Given the description of an element on the screen output the (x, y) to click on. 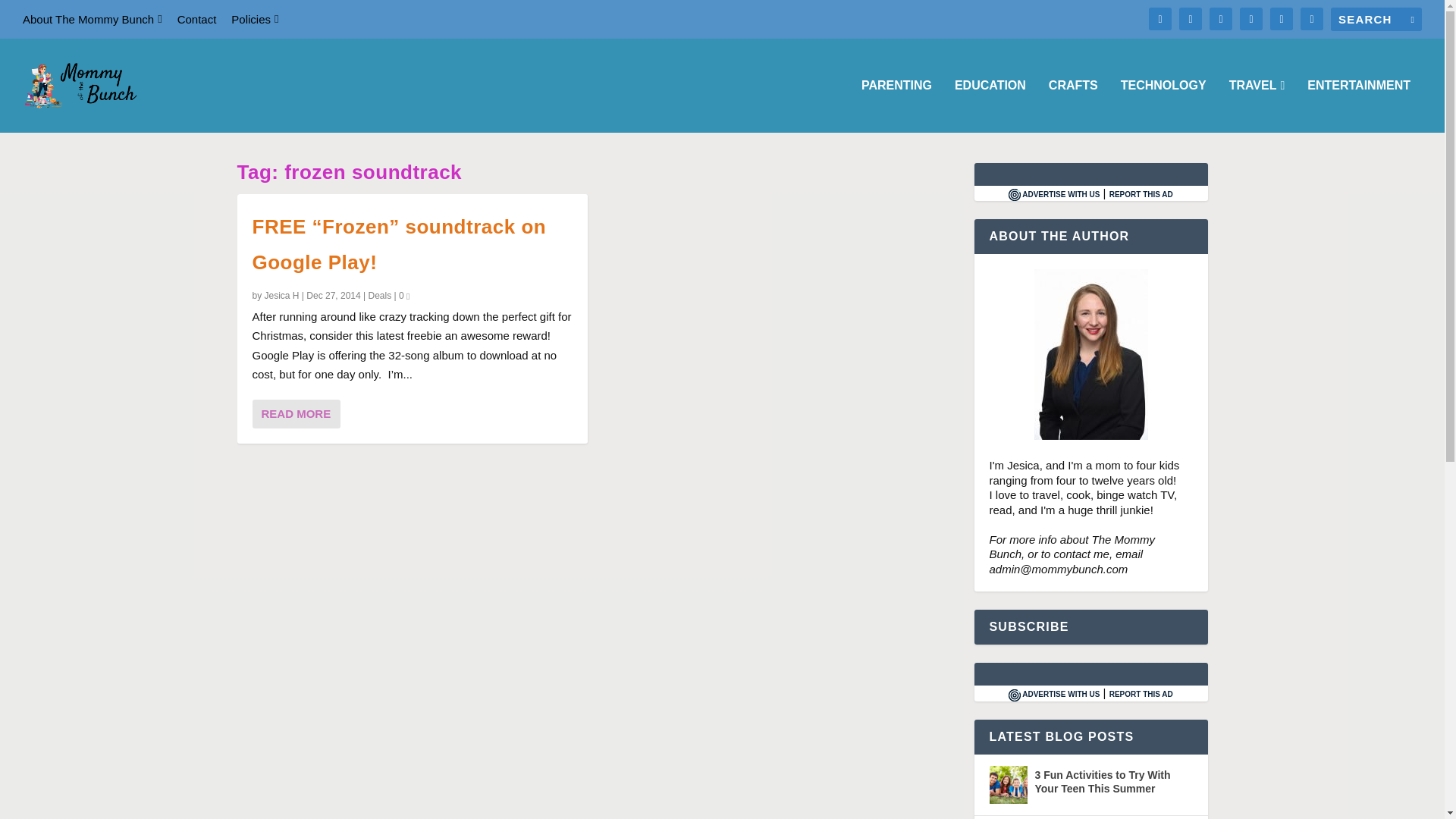
Policies (254, 19)
Posts by Jesica H (281, 295)
Deals (379, 294)
PARENTING (896, 105)
About The Mommy Bunch (92, 19)
TECHNOLOGY (1164, 105)
ADVERTISE WITH US (1054, 194)
Contact (196, 19)
Search for: (1376, 19)
REPORT THIS AD (1141, 194)
